Given the description of an element on the screen output the (x, y) to click on. 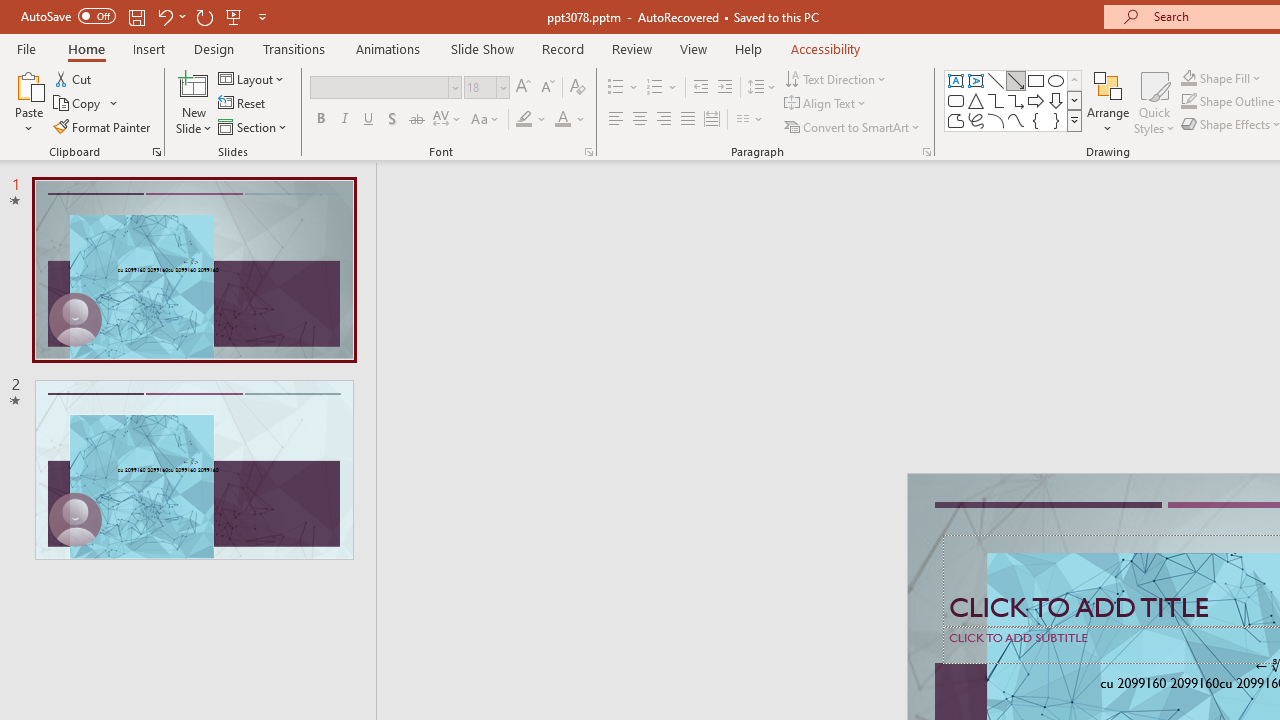
Shape Outline Green, Accent 1 (1188, 101)
